Given the description of an element on the screen output the (x, y) to click on. 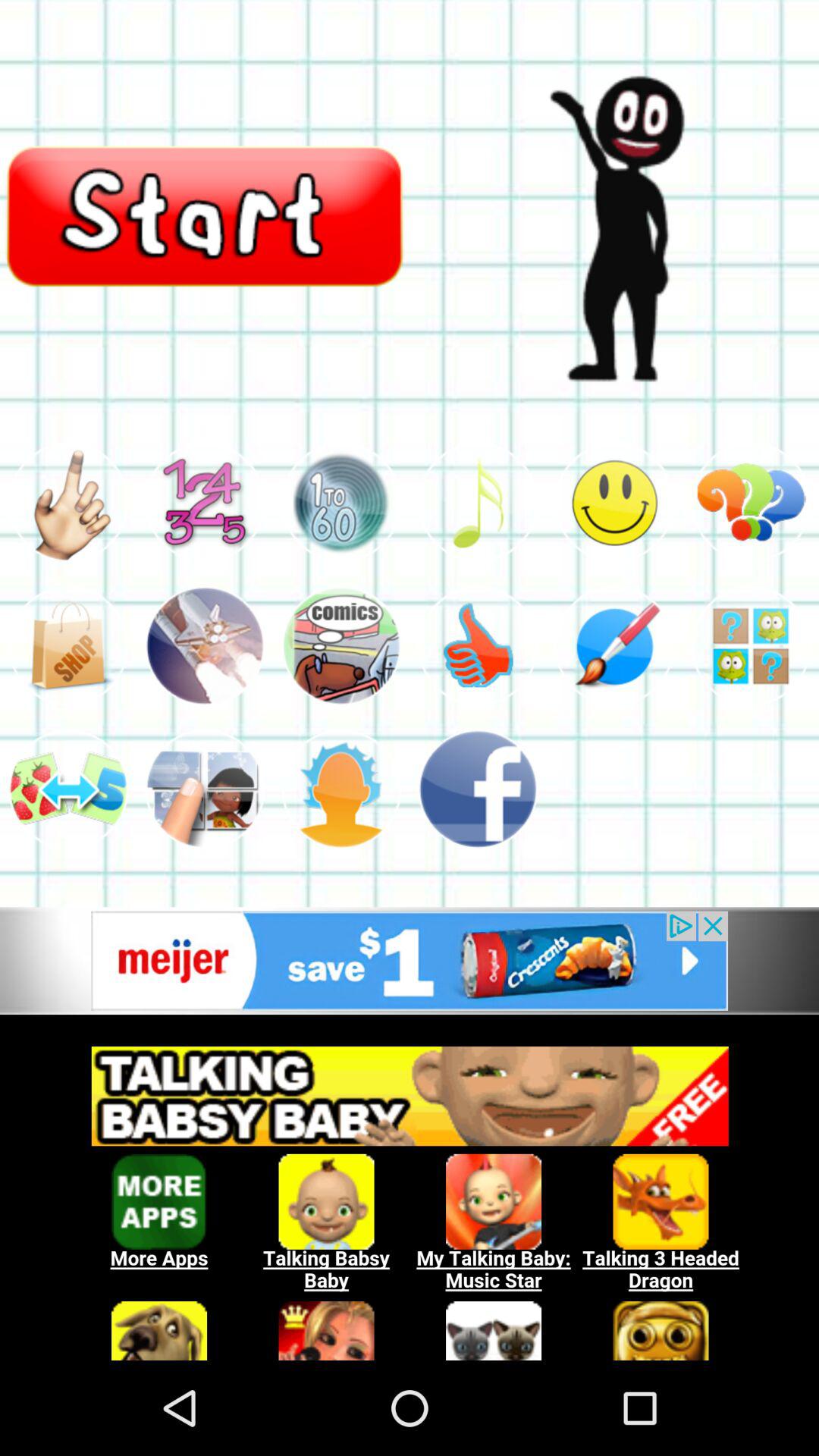
save 1 at meijer crescent rolls (409, 960)
